Given the description of an element on the screen output the (x, y) to click on. 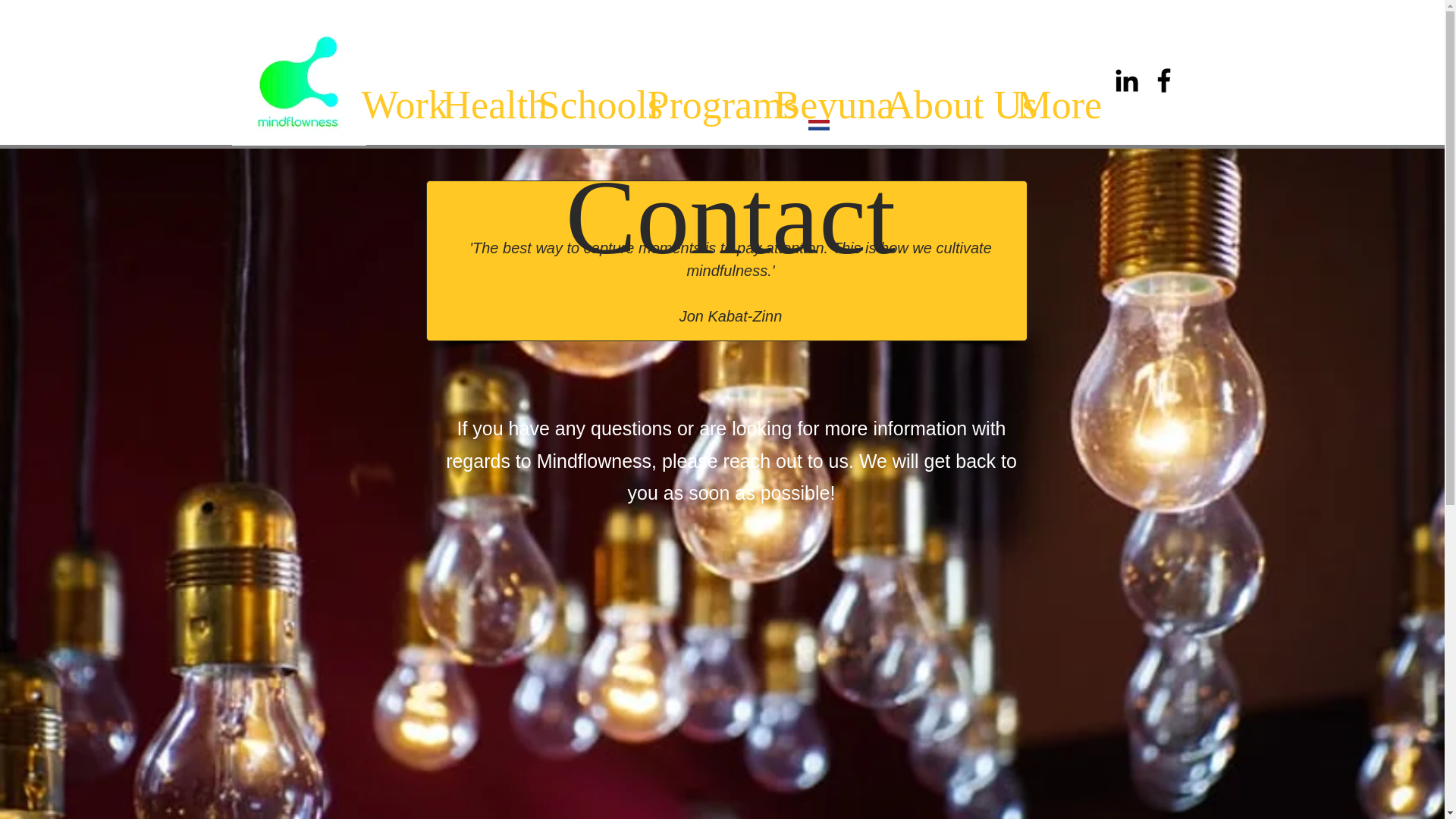
Work (390, 104)
Programs (697, 104)
Schools (579, 104)
About Us (938, 104)
Health (477, 104)
Beyuna (818, 104)
